Given the description of an element on the screen output the (x, y) to click on. 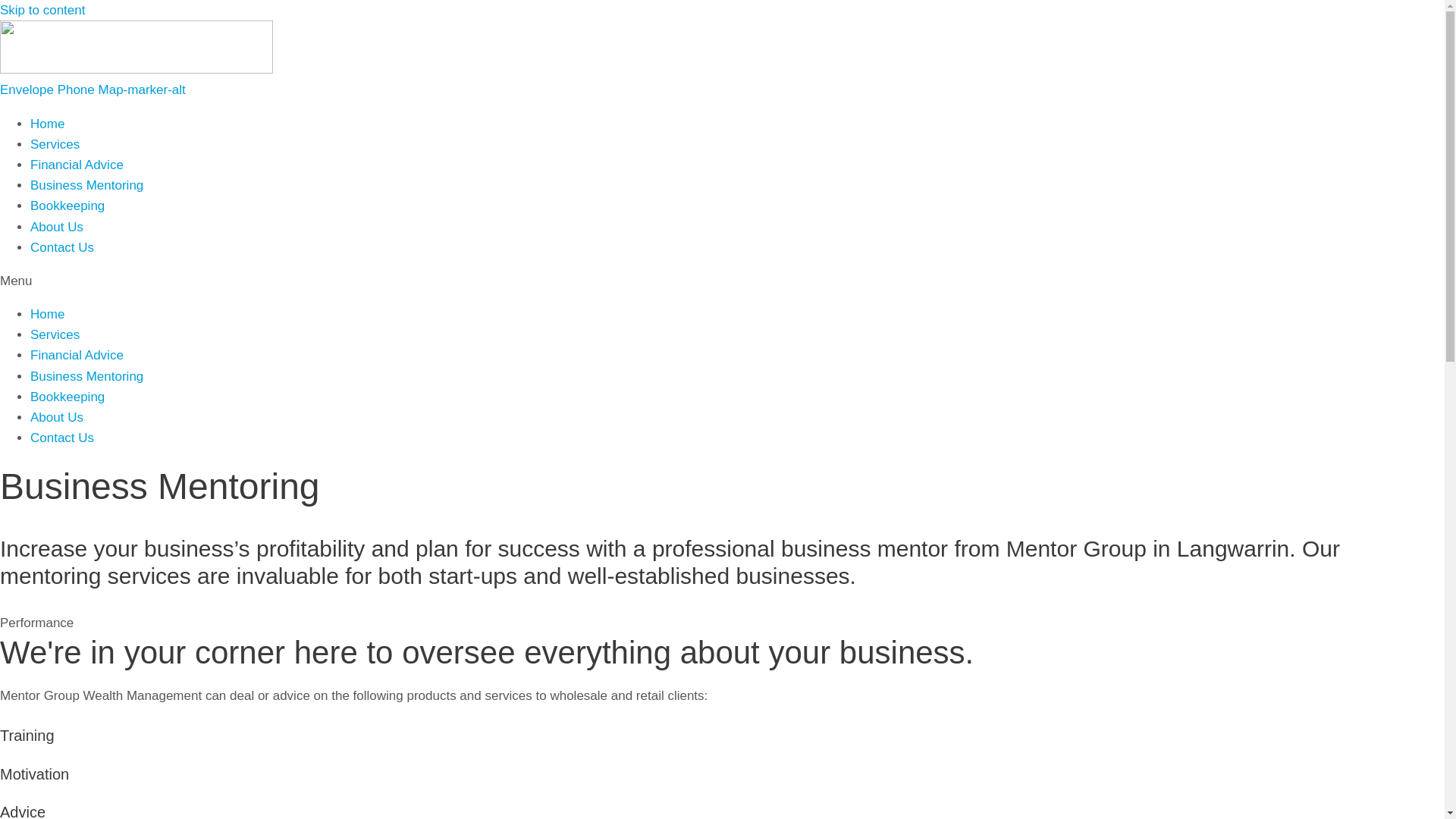
Phone Element type: text (77, 89)
Contact Us Element type: text (62, 247)
Envelope Element type: text (28, 89)
Services Element type: text (54, 144)
Business Mentoring Element type: text (86, 376)
Financial Advice Element type: text (76, 164)
Business Mentoring Element type: text (86, 185)
Map-marker-alt Element type: text (141, 89)
Contact Us Element type: text (62, 437)
Home Element type: text (47, 123)
Skip to content Element type: text (42, 10)
Bookkeeping Element type: text (67, 396)
Home Element type: text (47, 314)
About Us Element type: text (56, 417)
Services Element type: text (54, 334)
About Us Element type: text (56, 226)
Financial Advice Element type: text (76, 355)
Bookkeeping Element type: text (67, 205)
